Given the description of an element on the screen output the (x, y) to click on. 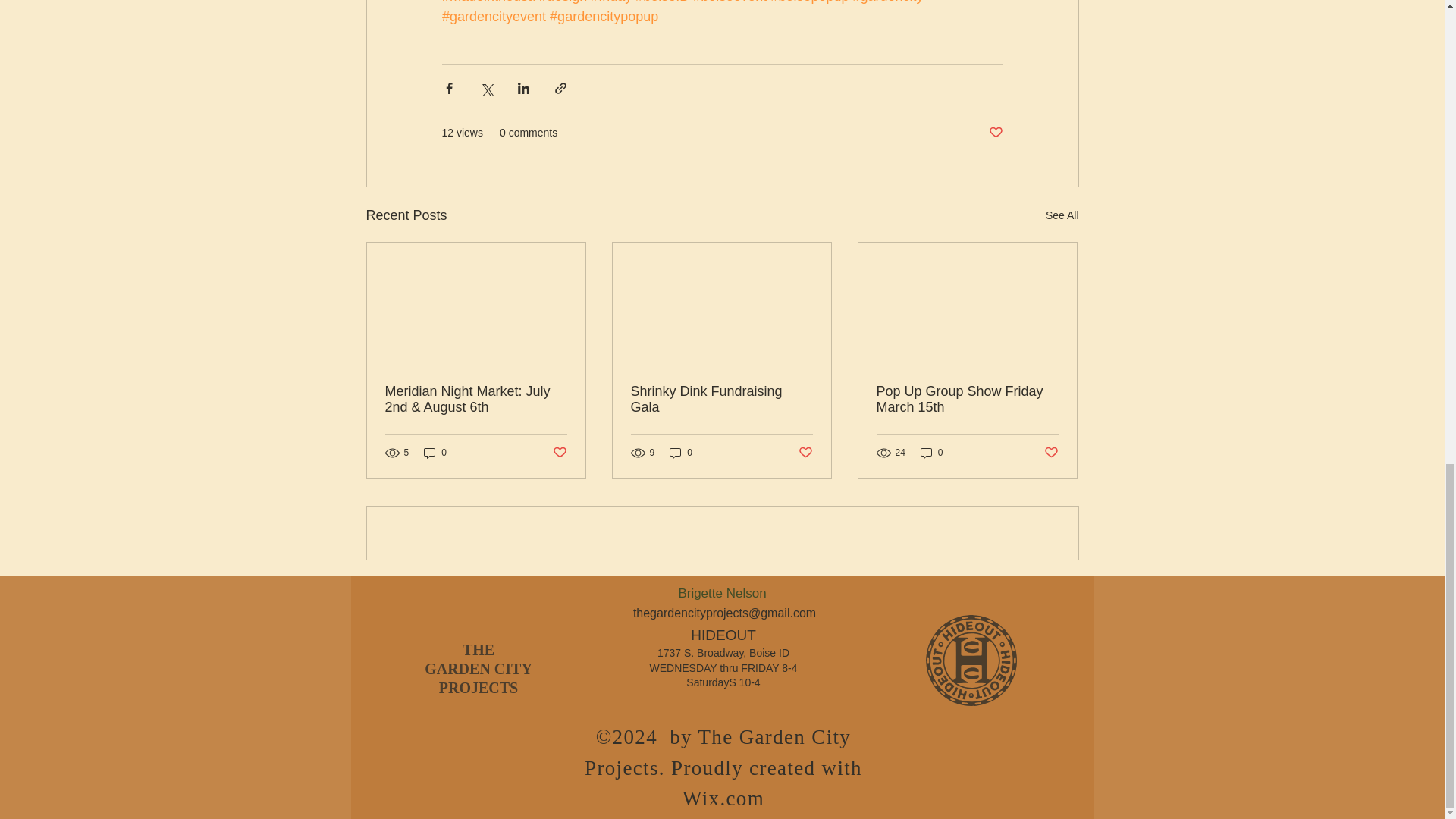
See All (1061, 215)
Post not marked as liked (558, 453)
0 (435, 452)
Post not marked as liked (995, 132)
